Given the description of an element on the screen output the (x, y) to click on. 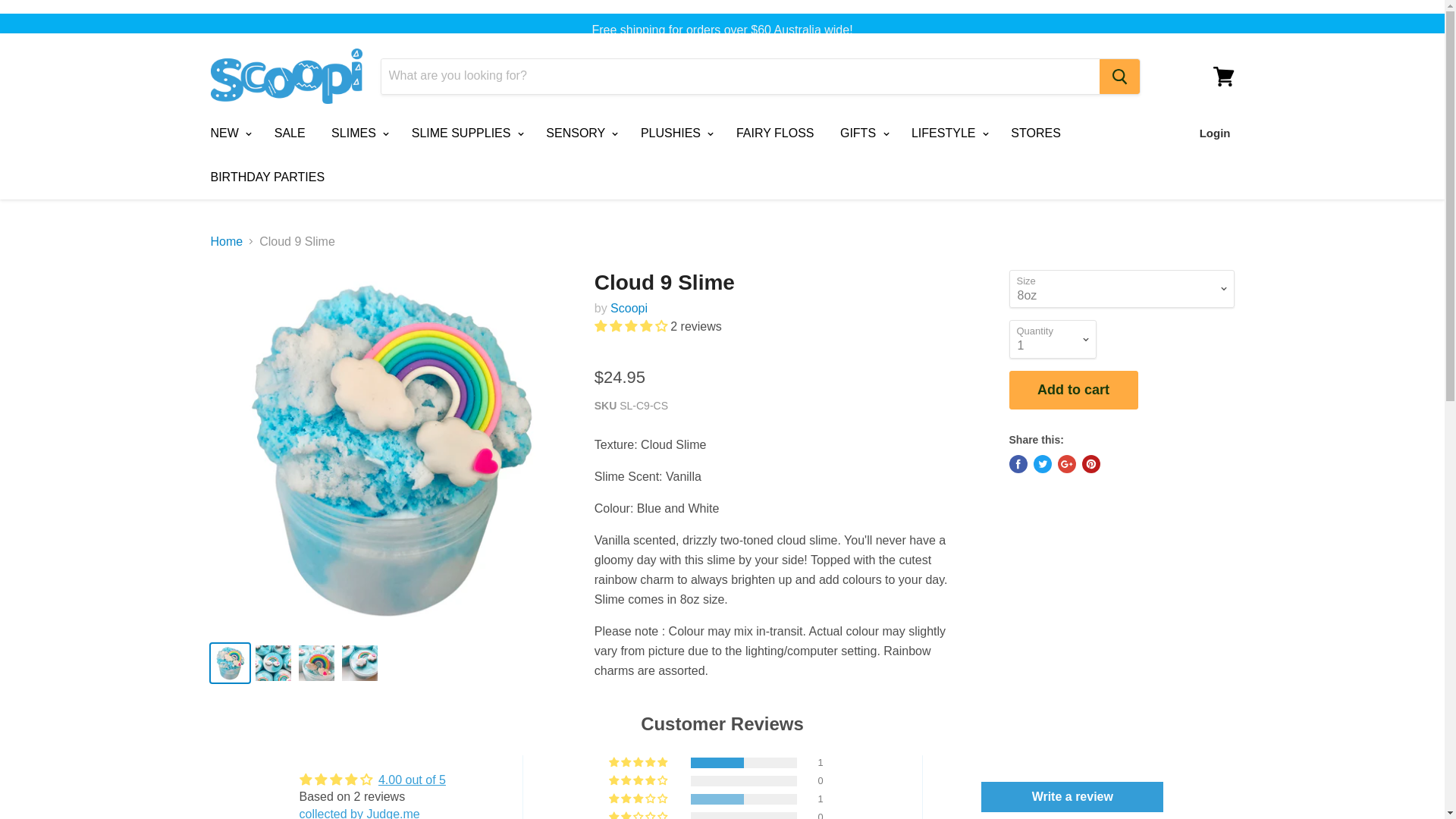
NEW (228, 133)
Scoopi (628, 308)
View cart (1223, 76)
SALE (290, 133)
SLIMES (358, 133)
PLUSHIES (675, 133)
SLIME SUPPLIES (465, 133)
SENSORY (580, 133)
